Given the description of an element on the screen output the (x, y) to click on. 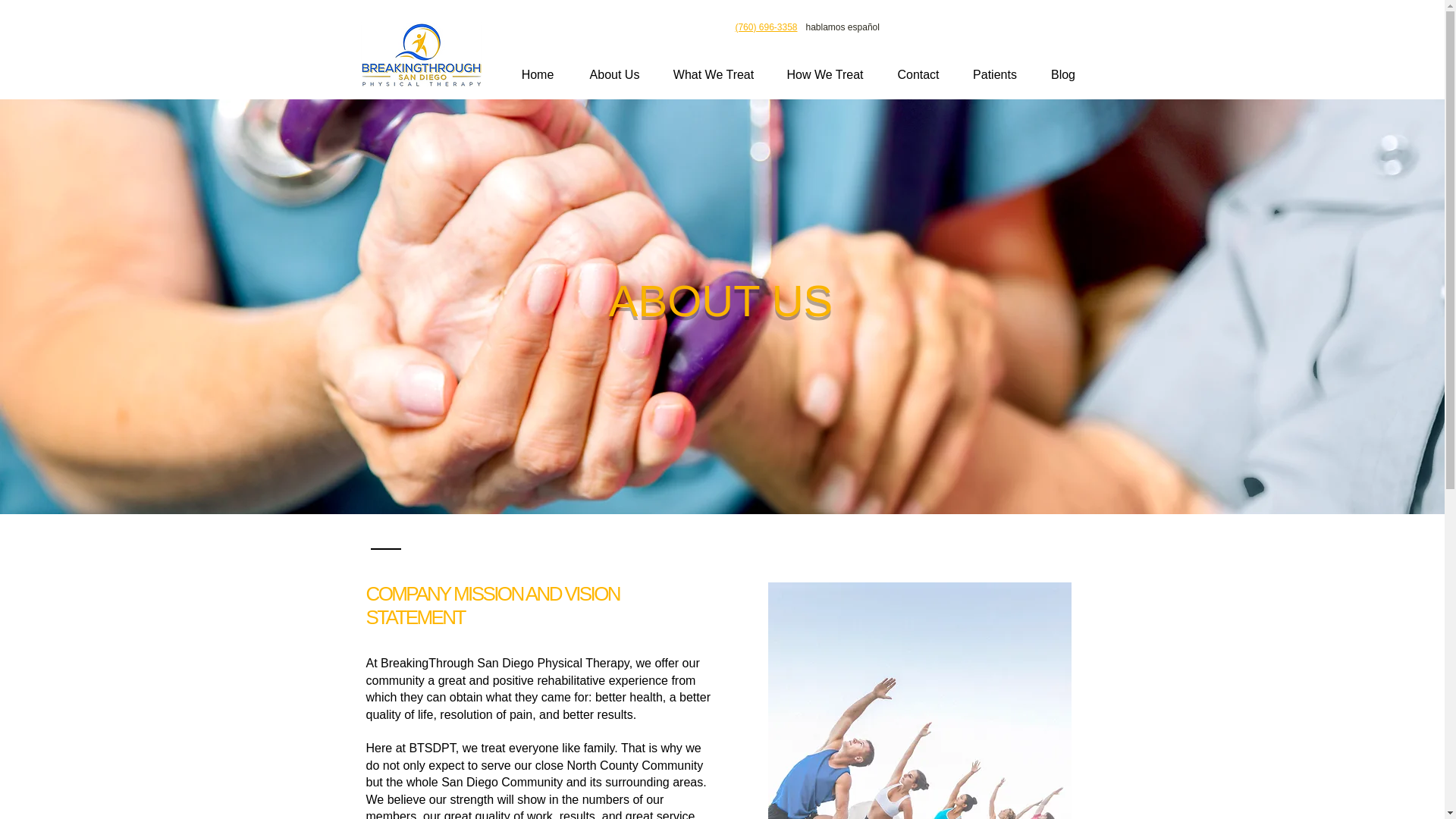
Contact (917, 74)
How We Treat (825, 74)
Home (537, 74)
Blog (1062, 74)
What We Treat (713, 74)
